Given the description of an element on the screen output the (x, y) to click on. 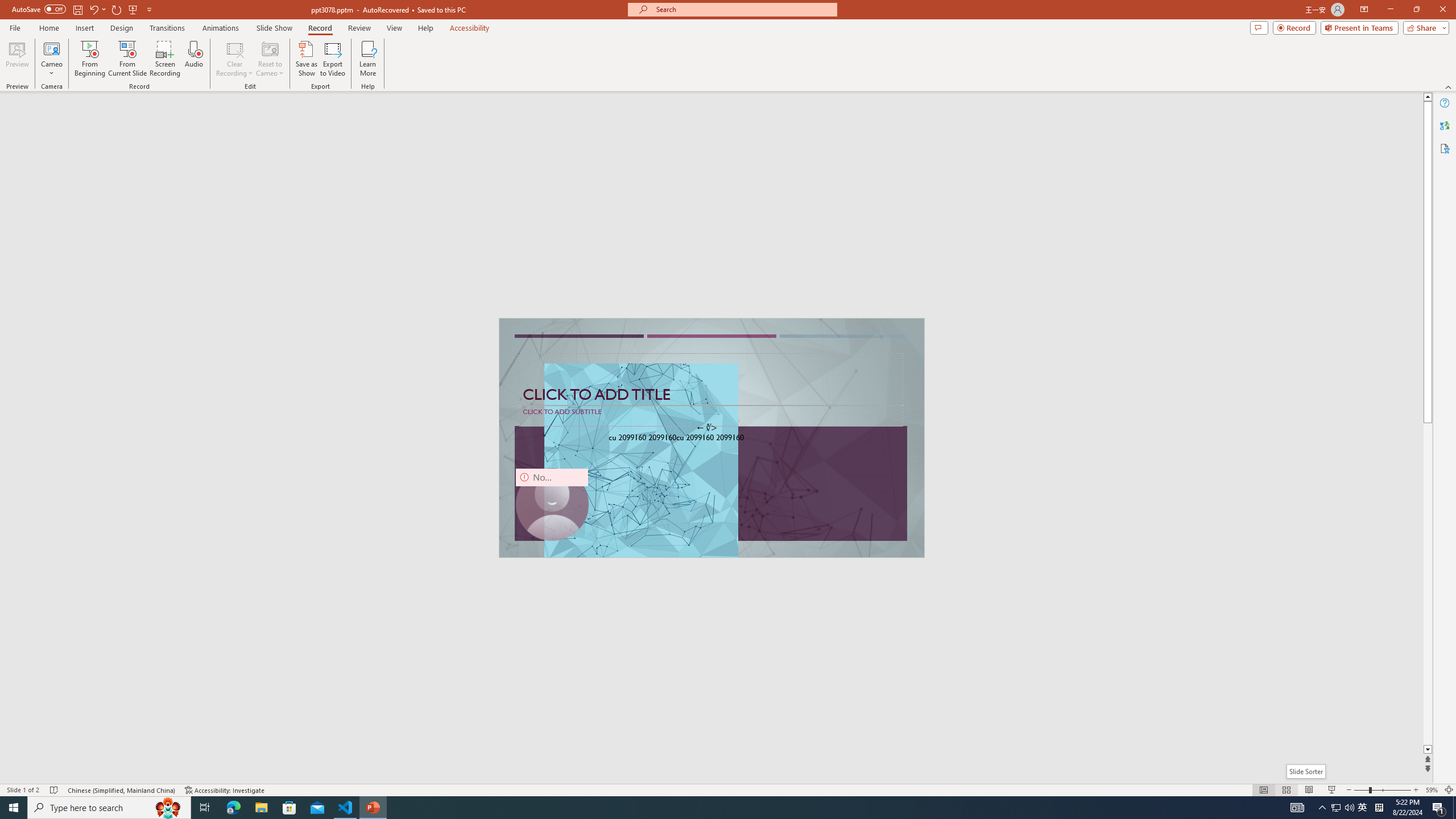
Save as Show (306, 58)
Export to Video (332, 58)
Camera 9, No camera detected. (552, 504)
Subtitle TextBox (710, 415)
TextBox 61 (710, 438)
